Given the description of an element on the screen output the (x, y) to click on. 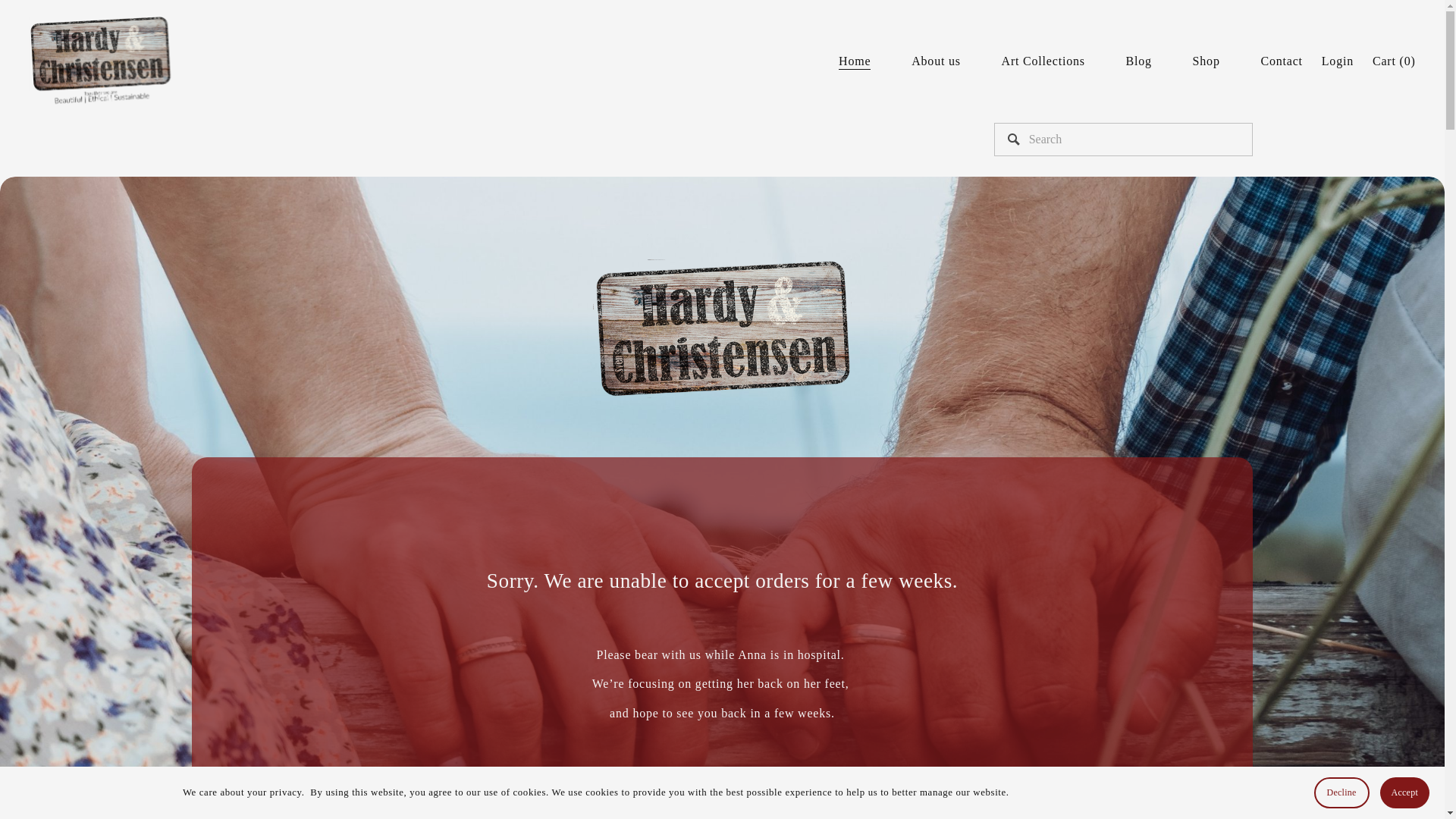
Contact (1280, 61)
Accept (1404, 792)
About us (935, 61)
Art Collections (1042, 61)
Login (1338, 61)
Shop (1206, 61)
Home (854, 61)
Decline (1342, 792)
Blog (1138, 61)
